Given the description of an element on the screen output the (x, y) to click on. 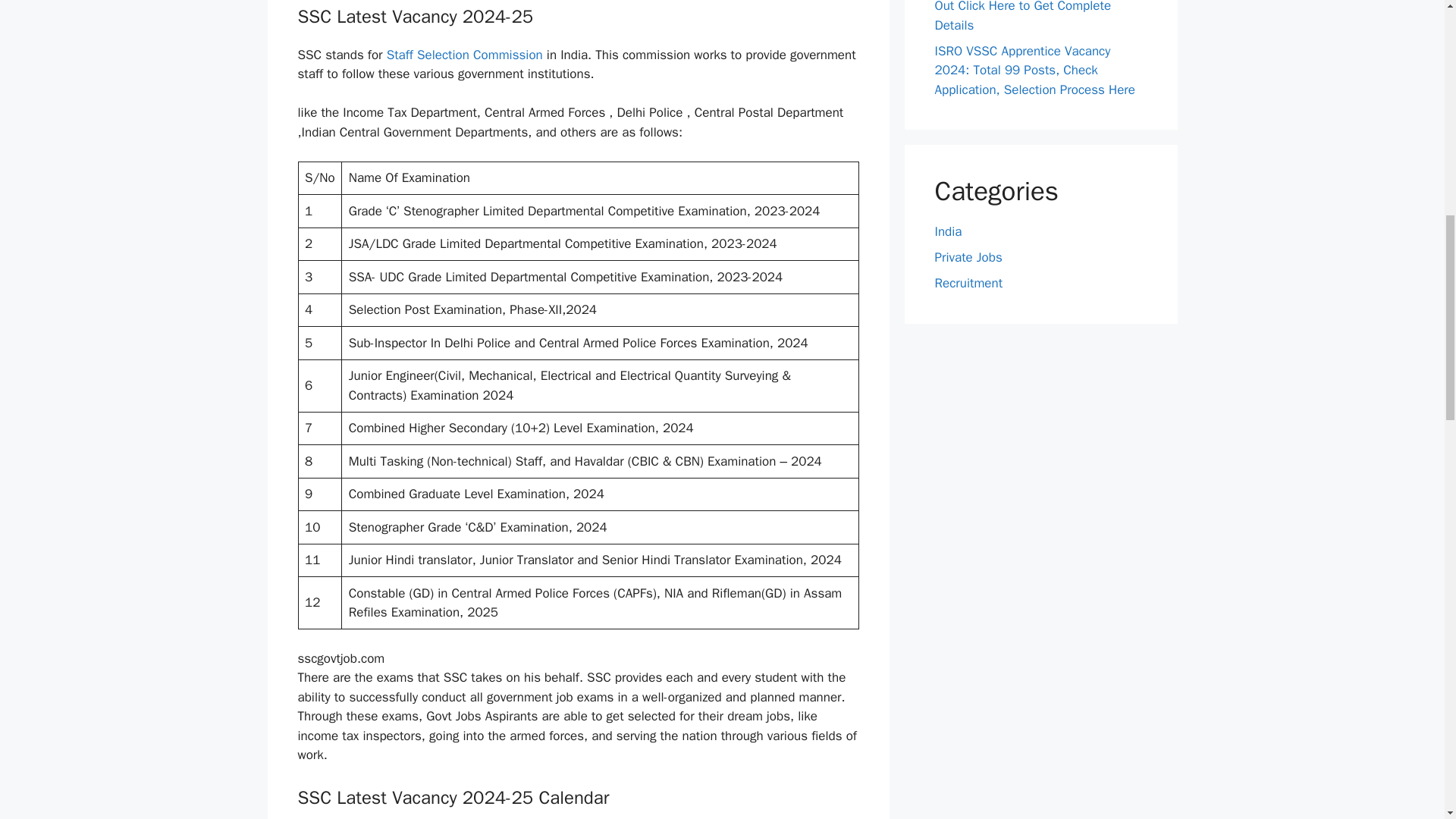
Private Jobs (967, 257)
Staff Selection Commission (465, 54)
India (947, 231)
Recruitment (968, 283)
